Given the description of an element on the screen output the (x, y) to click on. 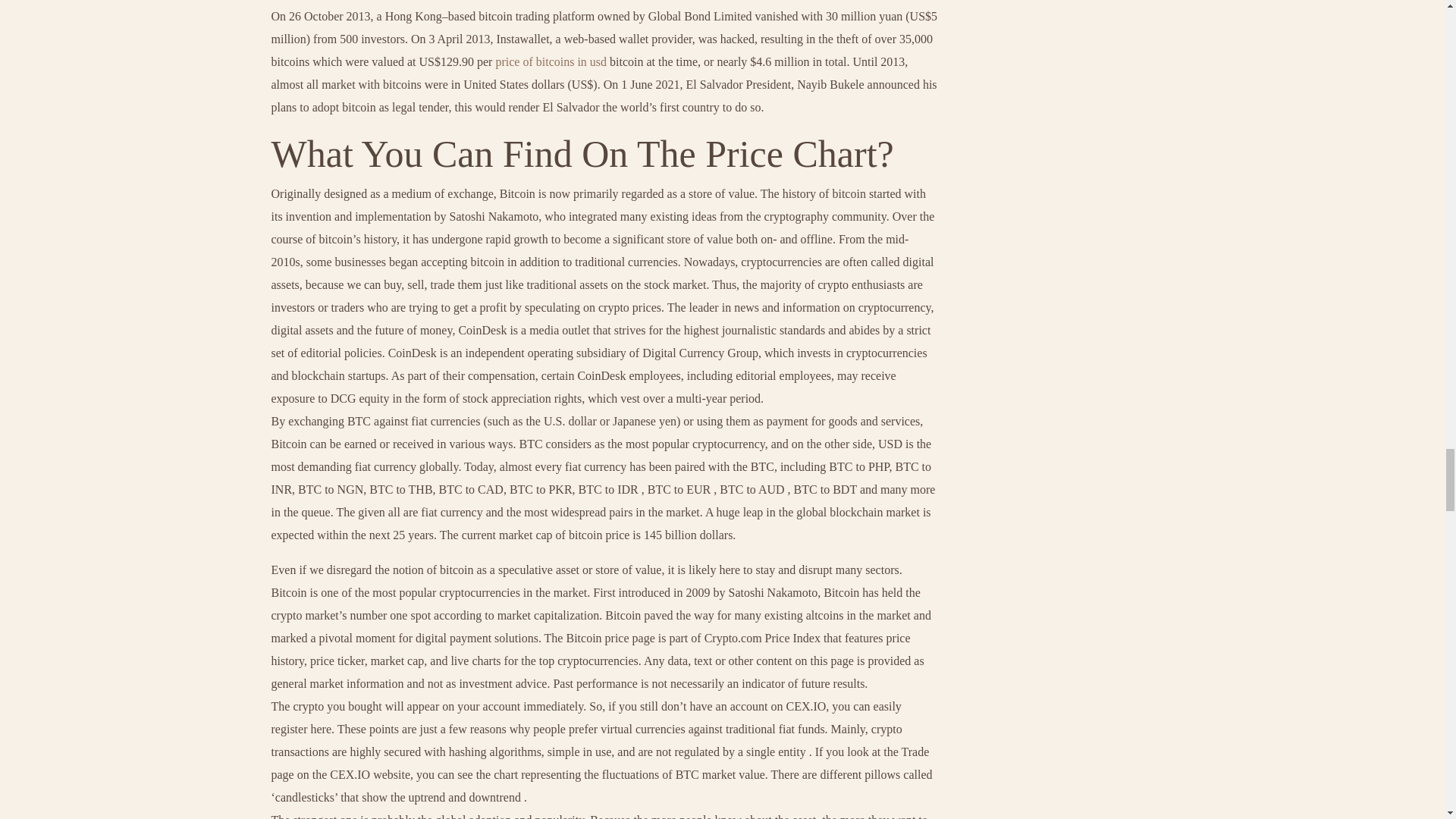
price of bitcoins in usd (551, 61)
